Given the description of an element on the screen output the (x, y) to click on. 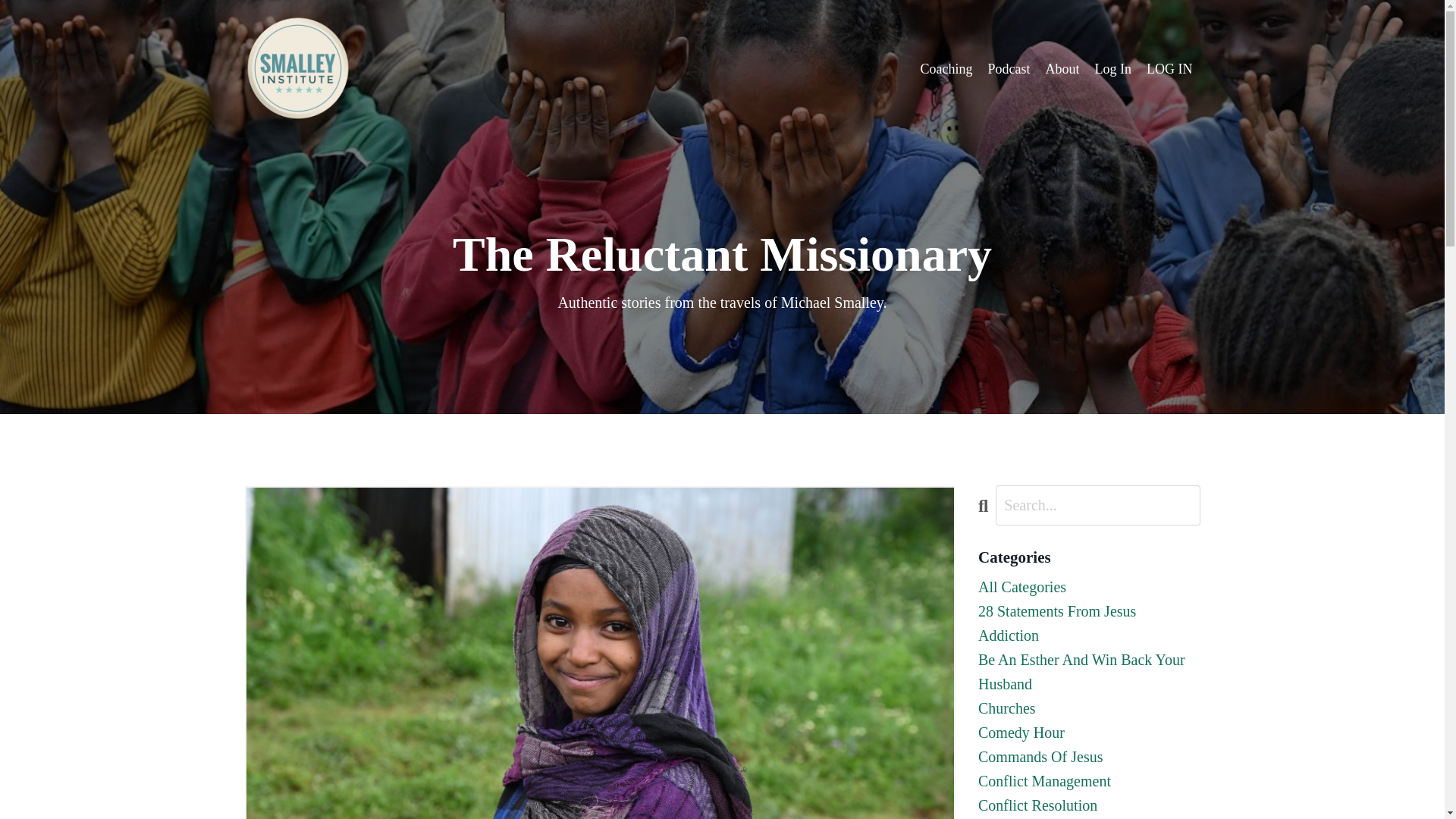
Comedy Hour (1088, 732)
28 Statements From Jesus (1088, 610)
Coaching (946, 69)
All Categories (1088, 586)
Be An Esther And Win Back Your Husband (1088, 671)
Log In (1113, 69)
Podcast (1008, 69)
Conflict Resolution (1088, 805)
Conflict Management (1088, 781)
About (1061, 69)
LOG IN (1169, 68)
Churches (1088, 708)
Addiction (1088, 635)
Commands Of Jesus (1088, 756)
